Given the description of an element on the screen output the (x, y) to click on. 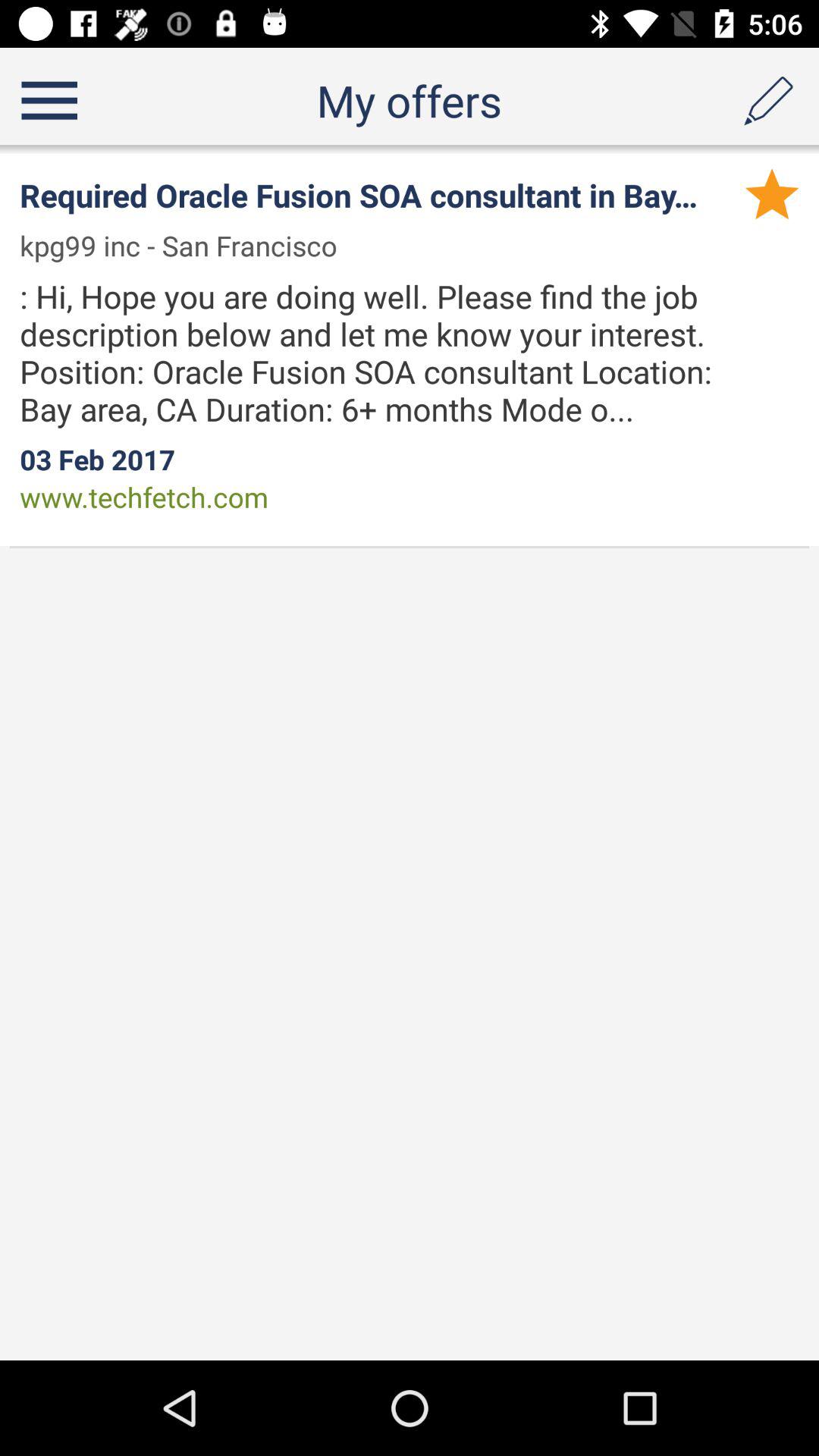
press the item below 03 feb 2017 icon (143, 496)
